Given the description of an element on the screen output the (x, y) to click on. 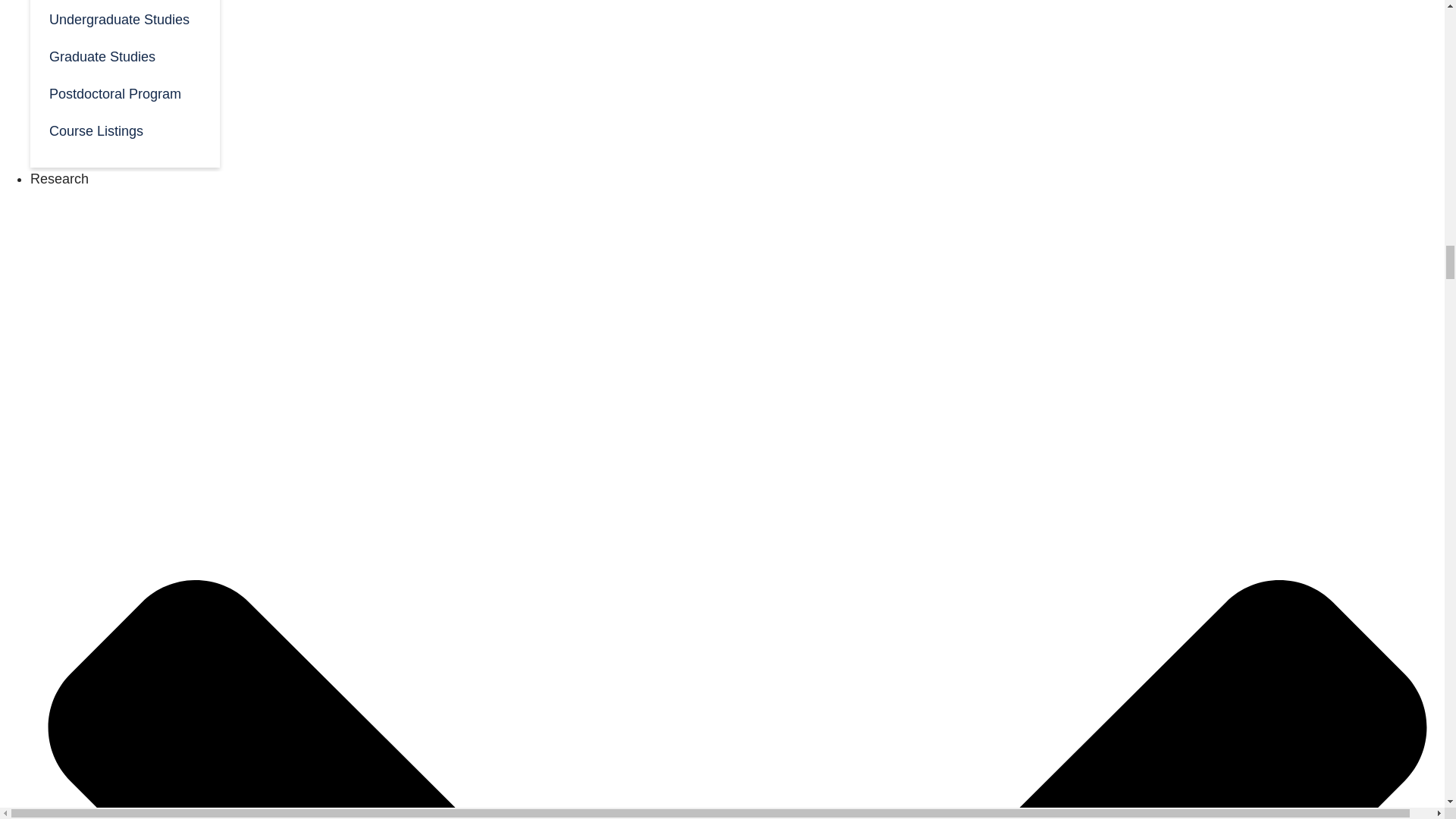
Postdoctoral Program (125, 92)
Graduate Studies (125, 55)
Research (59, 178)
Course Listings (125, 129)
Undergraduate Studies (125, 18)
